Given the description of an element on the screen output the (x, y) to click on. 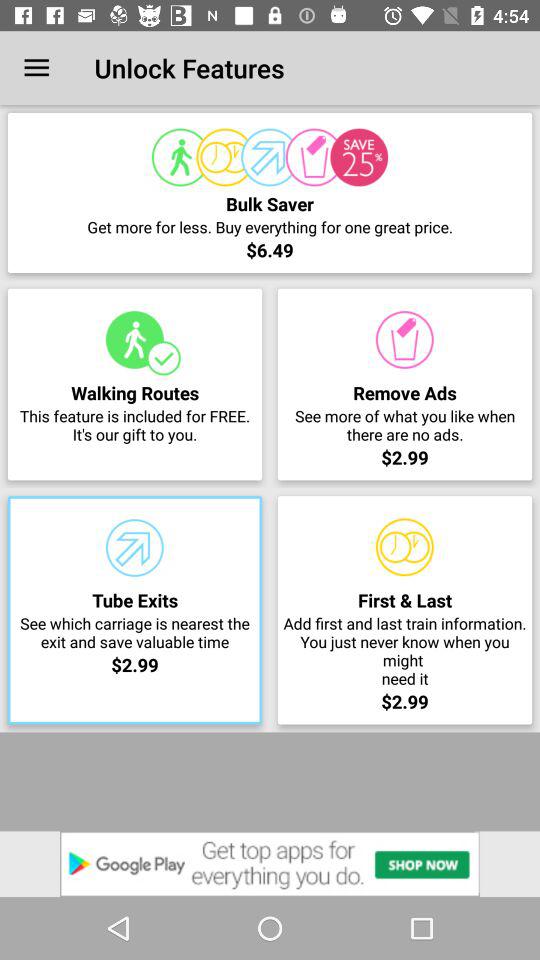
launch icon at the top left corner (36, 68)
